Given the description of an element on the screen output the (x, y) to click on. 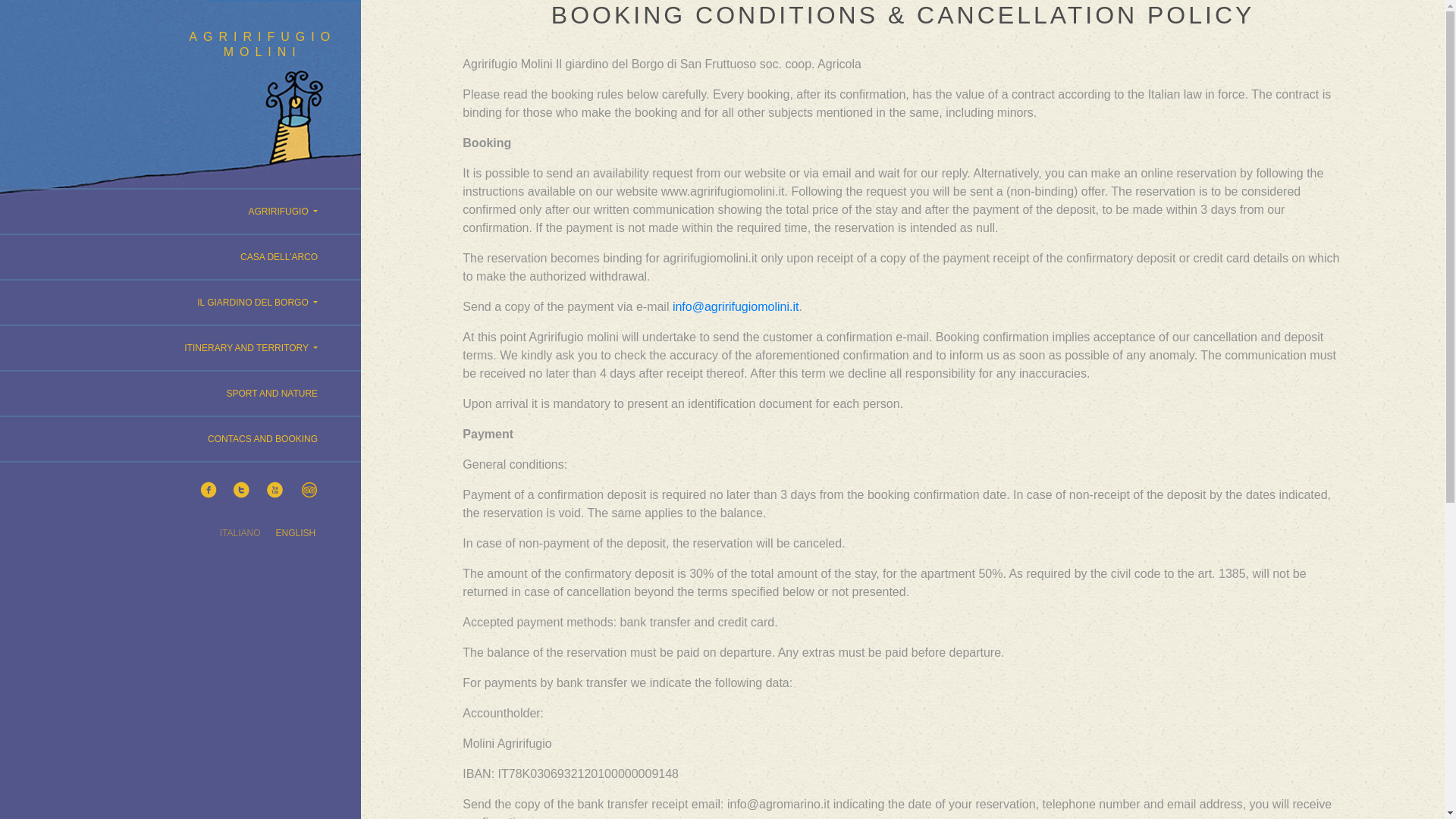
Agririfugio (180, 211)
ENGLISH (295, 533)
AGRIRIFUGIO (180, 211)
AGRIRIFUGIO MOLINI (261, 44)
Facebook Agririfugio Molini (208, 489)
IL GIARDINO DEL BORGO (180, 302)
Il Giardino del Borgo (180, 302)
Contacs and Booking (180, 438)
Twitter Agririfugio Molini (241, 489)
YouTube Agririfugio Molini (274, 489)
